Given the description of an element on the screen output the (x, y) to click on. 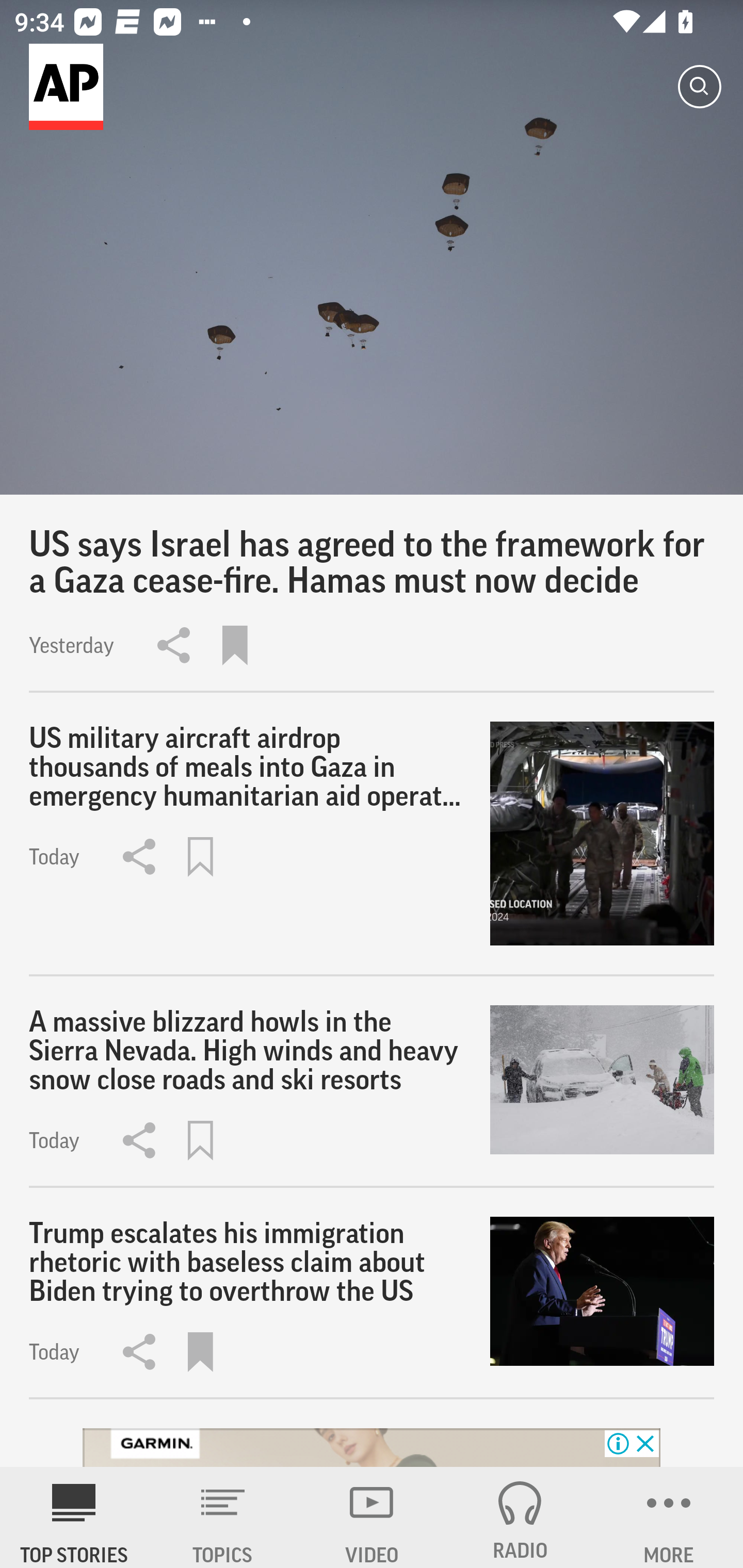
AP News TOP STORIES (74, 1517)
TOPICS (222, 1517)
VIDEO (371, 1517)
RADIO (519, 1517)
MORE (668, 1517)
